Given the description of an element on the screen output the (x, y) to click on. 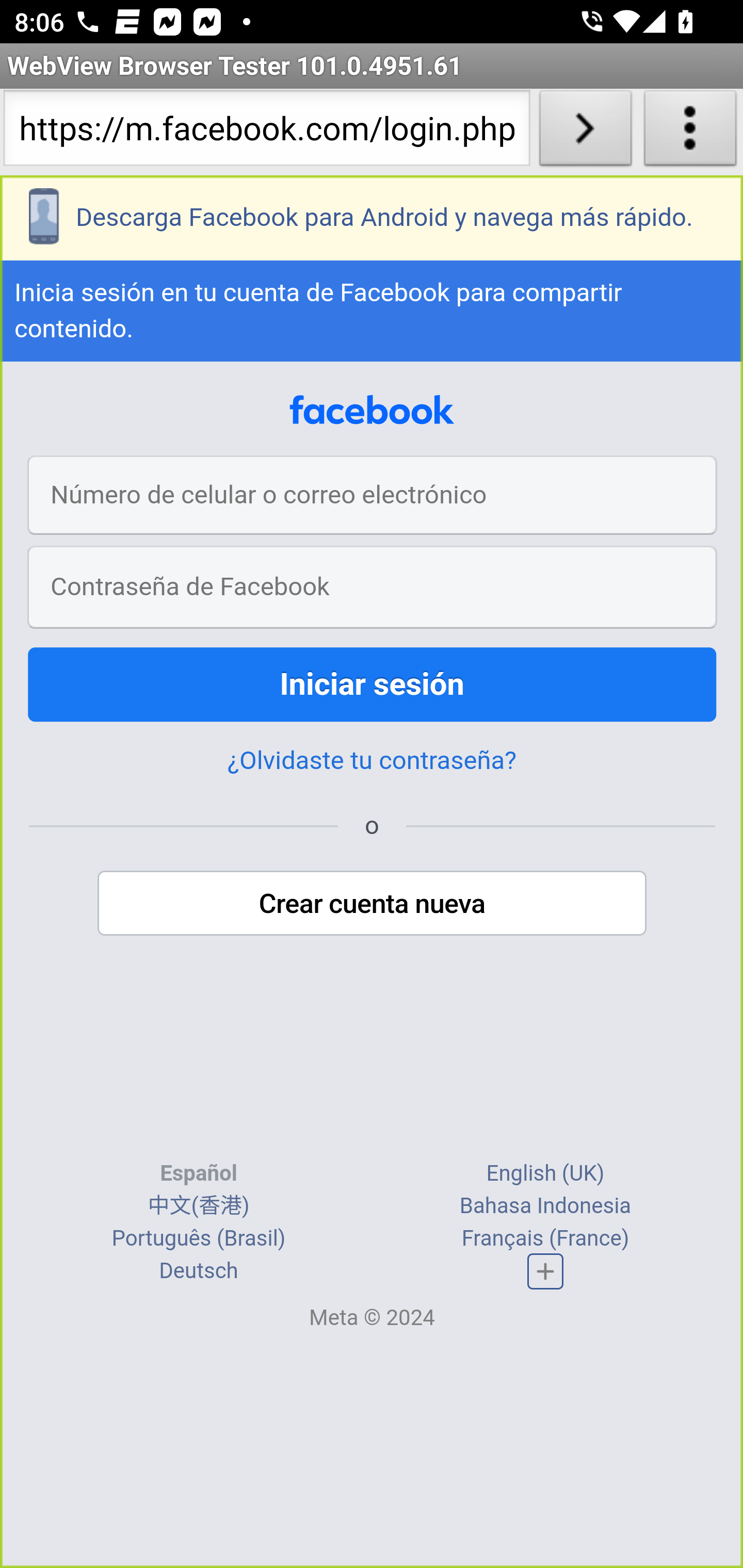
Load URL (585, 132)
About WebView (690, 132)
facebook (372, 411)
Iniciar sesión (372, 685)
¿Olvidaste tu contraseña? (371, 761)
Crear cuenta nueva (372, 904)
English (UK) (544, 1174)
中文(香港) (198, 1206)
Bahasa Indonesia (545, 1206)
Português (Brasil) (197, 1239)
Français (France) (544, 1239)
Lista completa de idiomas (545, 1271)
Deutsch (198, 1272)
